Given the description of an element on the screen output the (x, y) to click on. 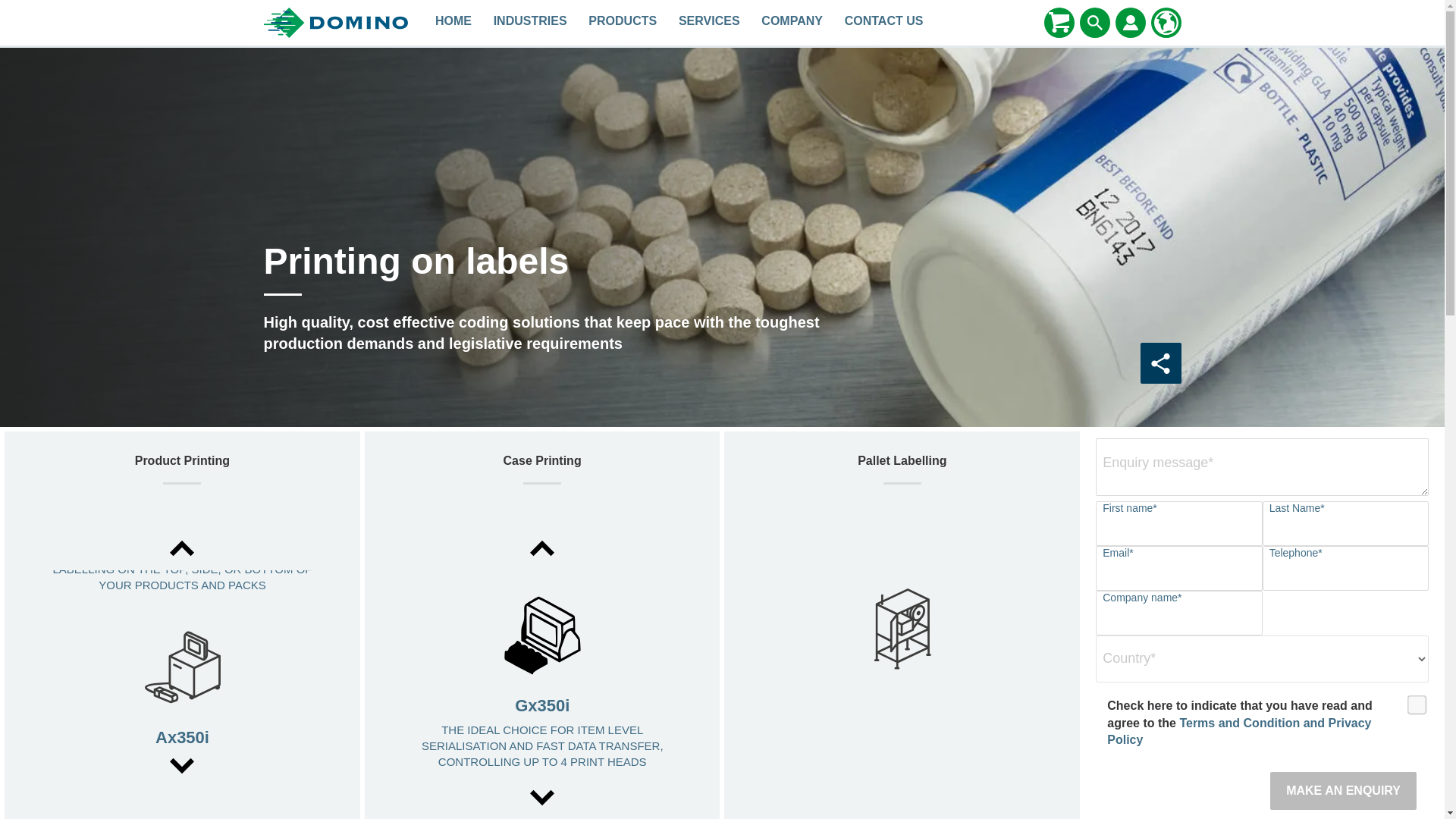
Change Region (1165, 22)
MyDomino Portals (1129, 22)
MyDomino Portals (1129, 22)
industries (529, 22)
products (623, 22)
HOME (454, 22)
BuyDomino (1058, 22)
Search (1094, 22)
Search (1094, 22)
BuyDomino (1058, 22)
